Given the description of an element on the screen output the (x, y) to click on. 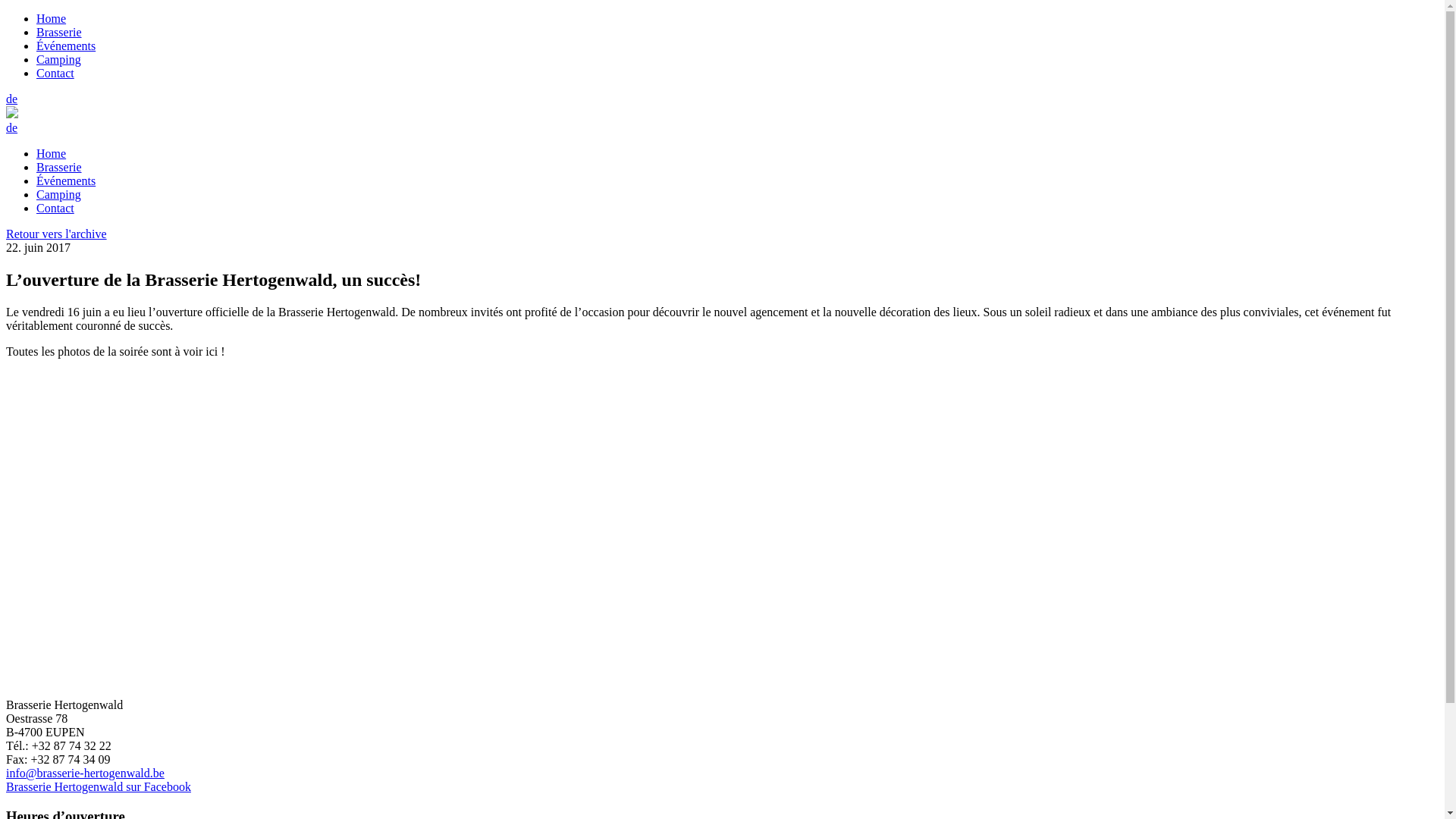
info@brasserie-hertogenwald.be Element type: text (85, 772)
Contact Element type: text (55, 207)
Retour vers l'archive Element type: text (56, 233)
Home Element type: text (50, 18)
Contact Element type: text (55, 72)
Camping Element type: text (58, 59)
Brasserie Element type: text (58, 31)
de Element type: text (11, 98)
Camping Element type: text (58, 194)
Brasserie Hertogenwald sur Facebook Element type: text (98, 786)
Brasserie Element type: text (58, 166)
Home Element type: text (50, 153)
de Element type: text (11, 127)
